Given the description of an element on the screen output the (x, y) to click on. 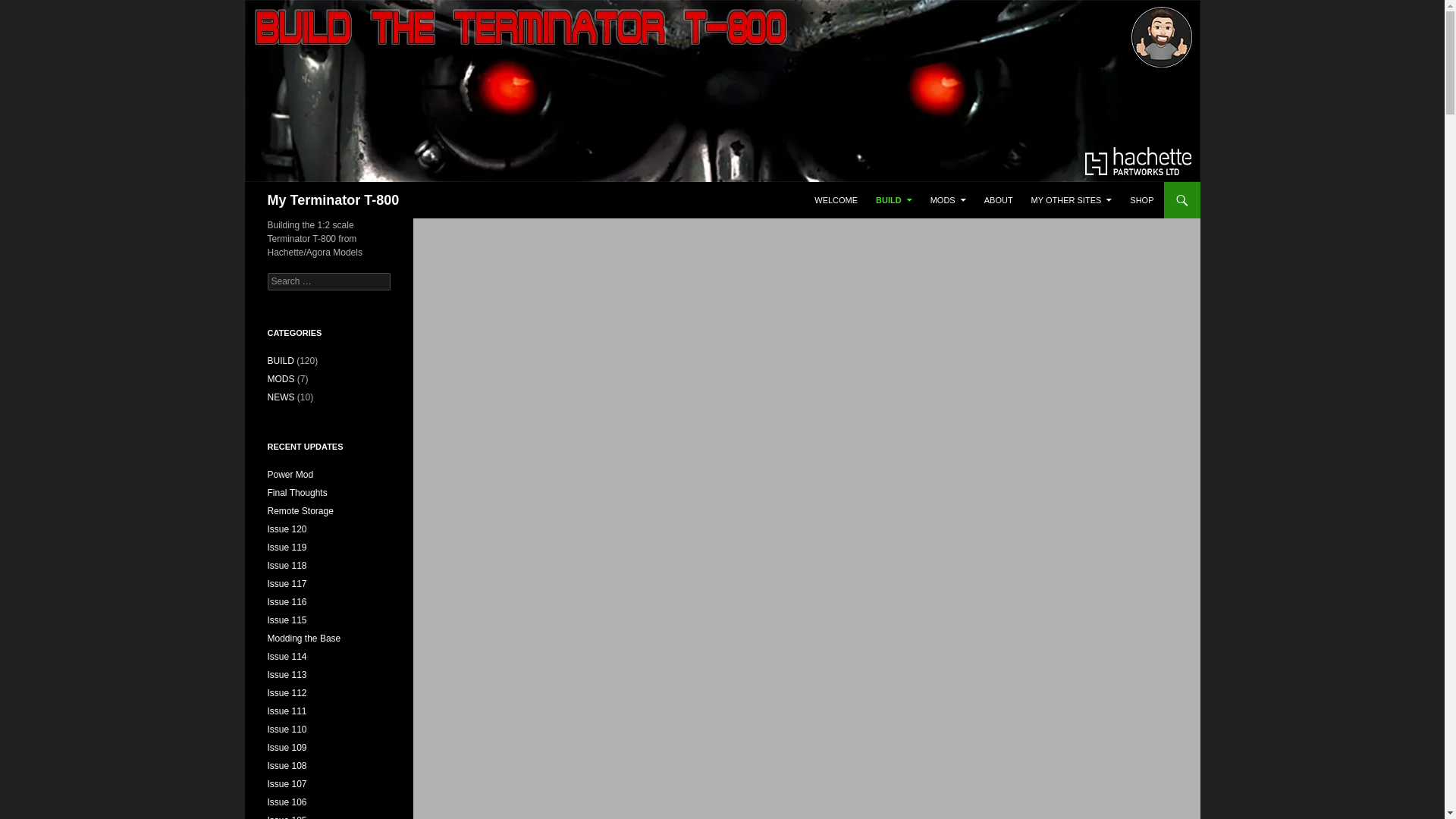
My Terminator T-800 (332, 199)
BUILD (893, 199)
WELCOME (835, 199)
